Given the description of an element on the screen output the (x, y) to click on. 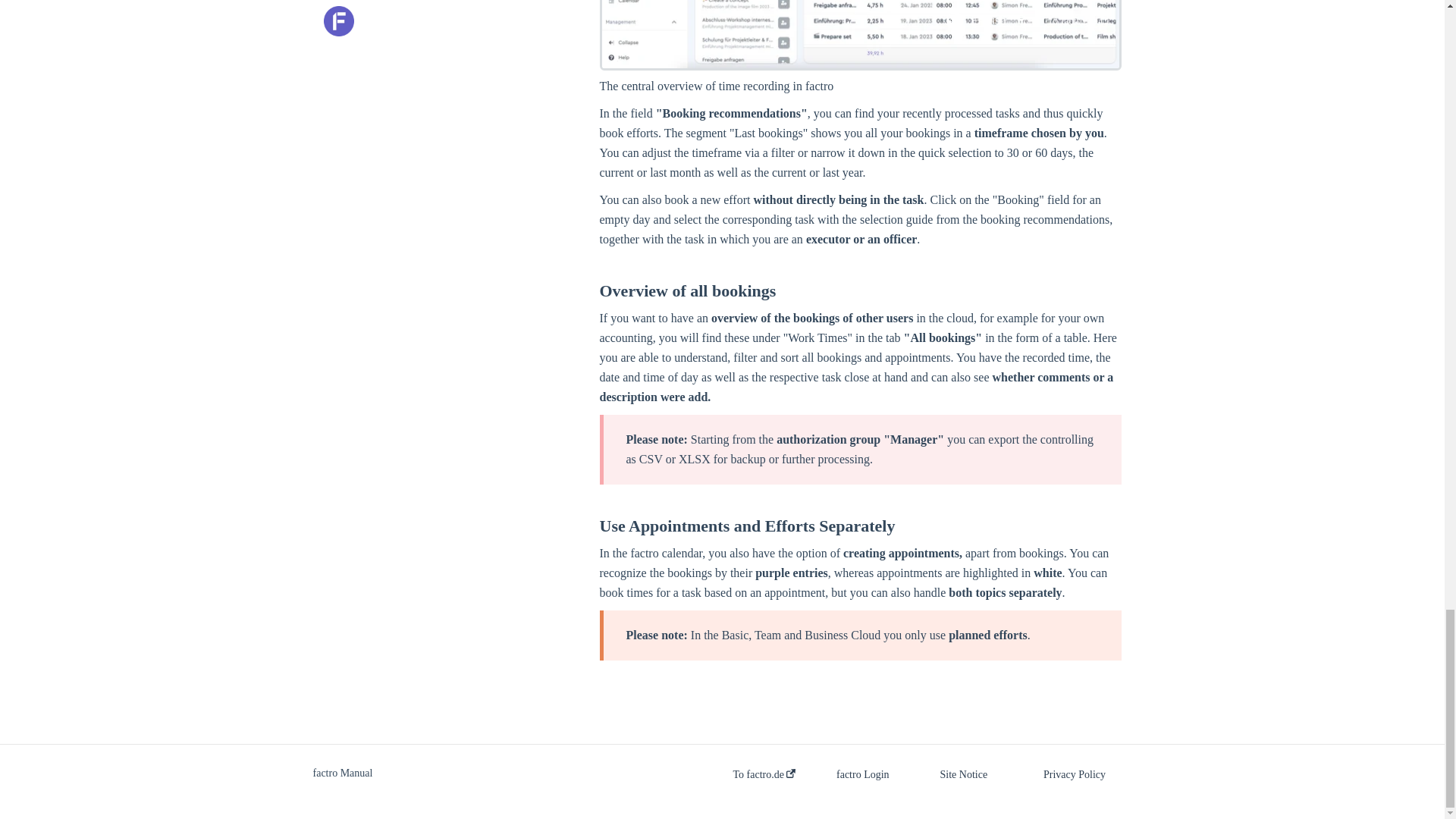
To factro.de (763, 775)
